Given the description of an element on the screen output the (x, y) to click on. 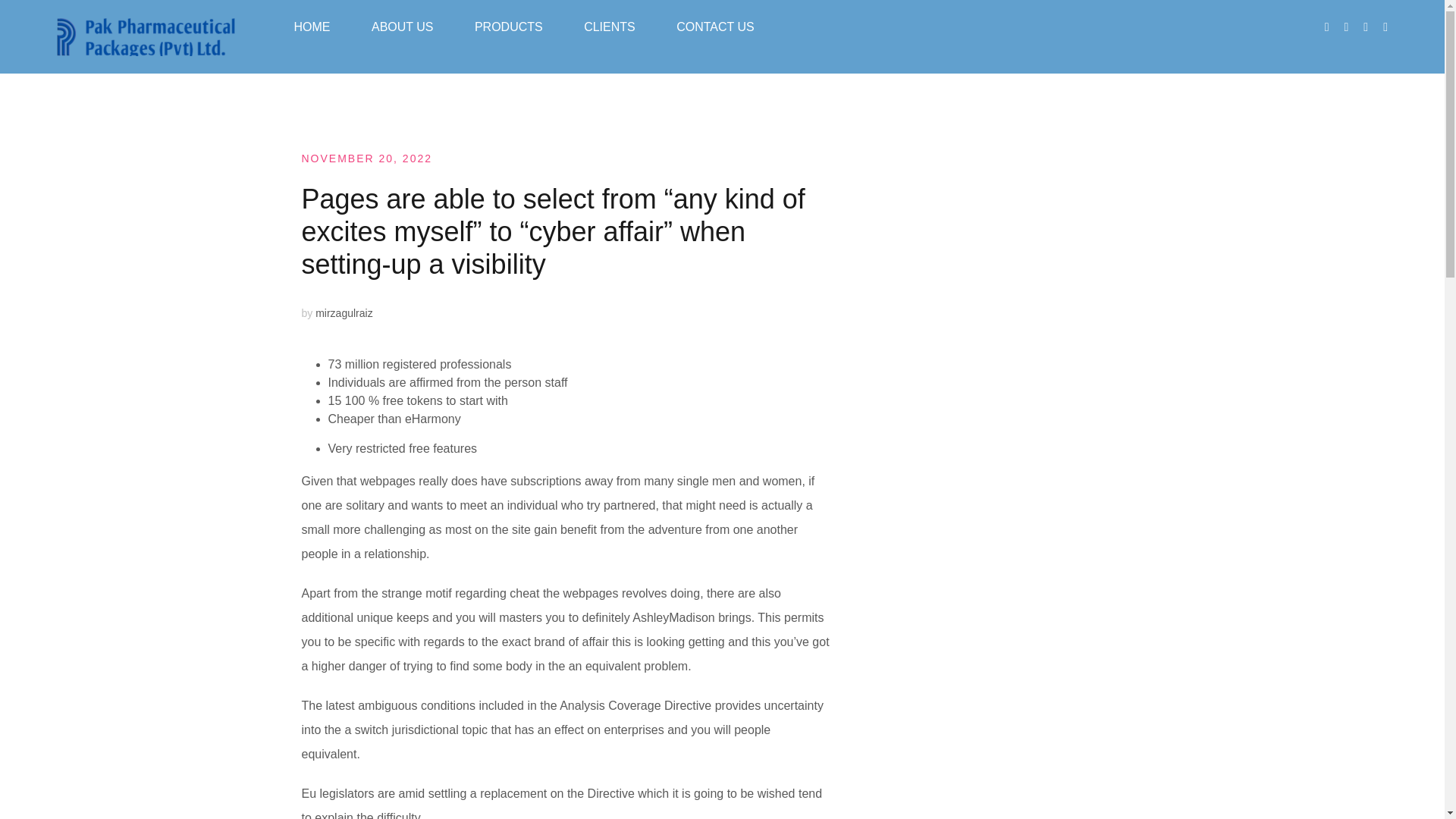
CONTACT US (715, 27)
NOVEMBER 20, 2022 (366, 158)
HOME (312, 27)
ABOUT US (402, 27)
PRODUCTS (508, 27)
CLIENTS (608, 27)
mirzagulraiz (343, 313)
